Given the description of an element on the screen output the (x, y) to click on. 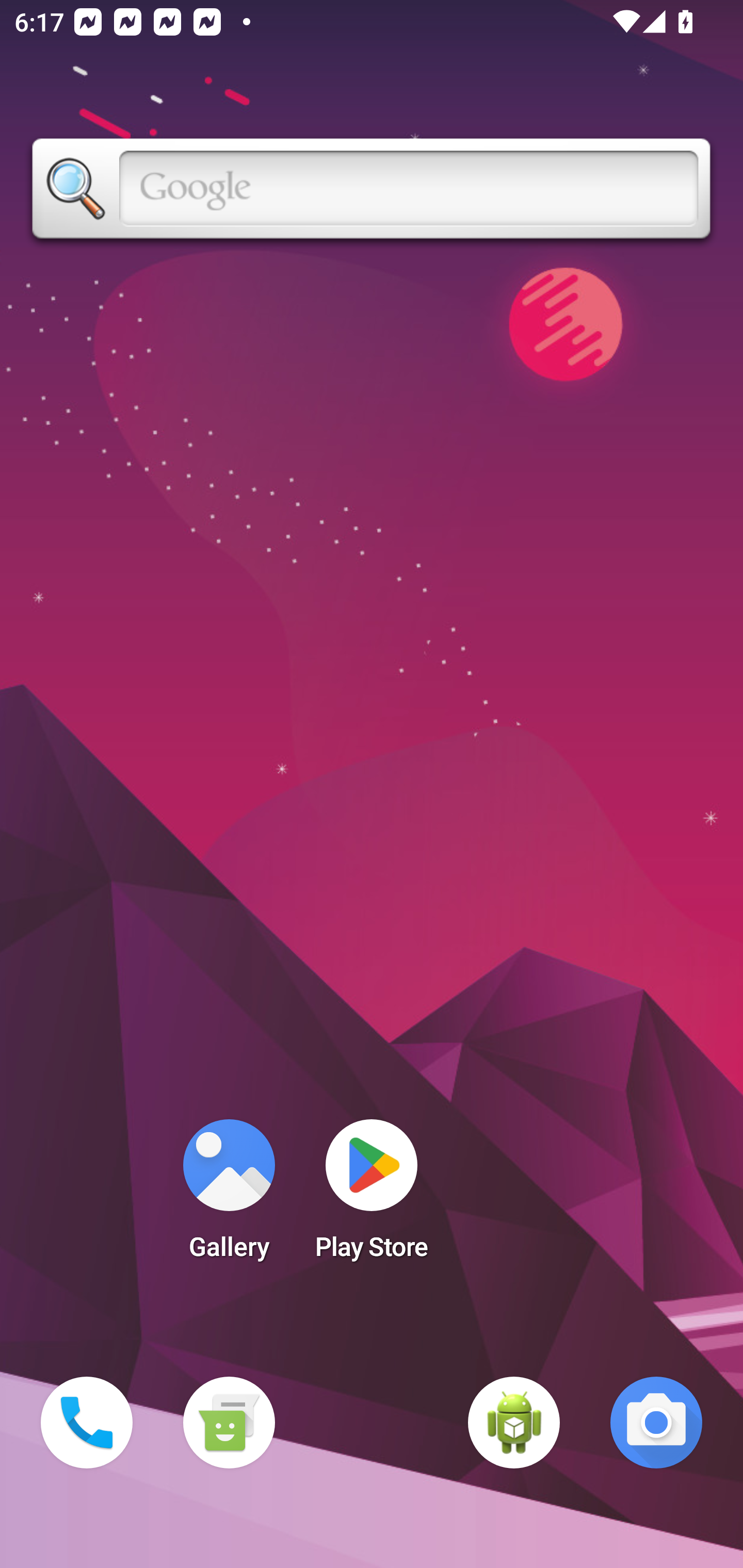
Gallery (228, 1195)
Play Store (371, 1195)
Phone (86, 1422)
Messaging (228, 1422)
WebView Browser Tester (513, 1422)
Camera (656, 1422)
